Given the description of an element on the screen output the (x, y) to click on. 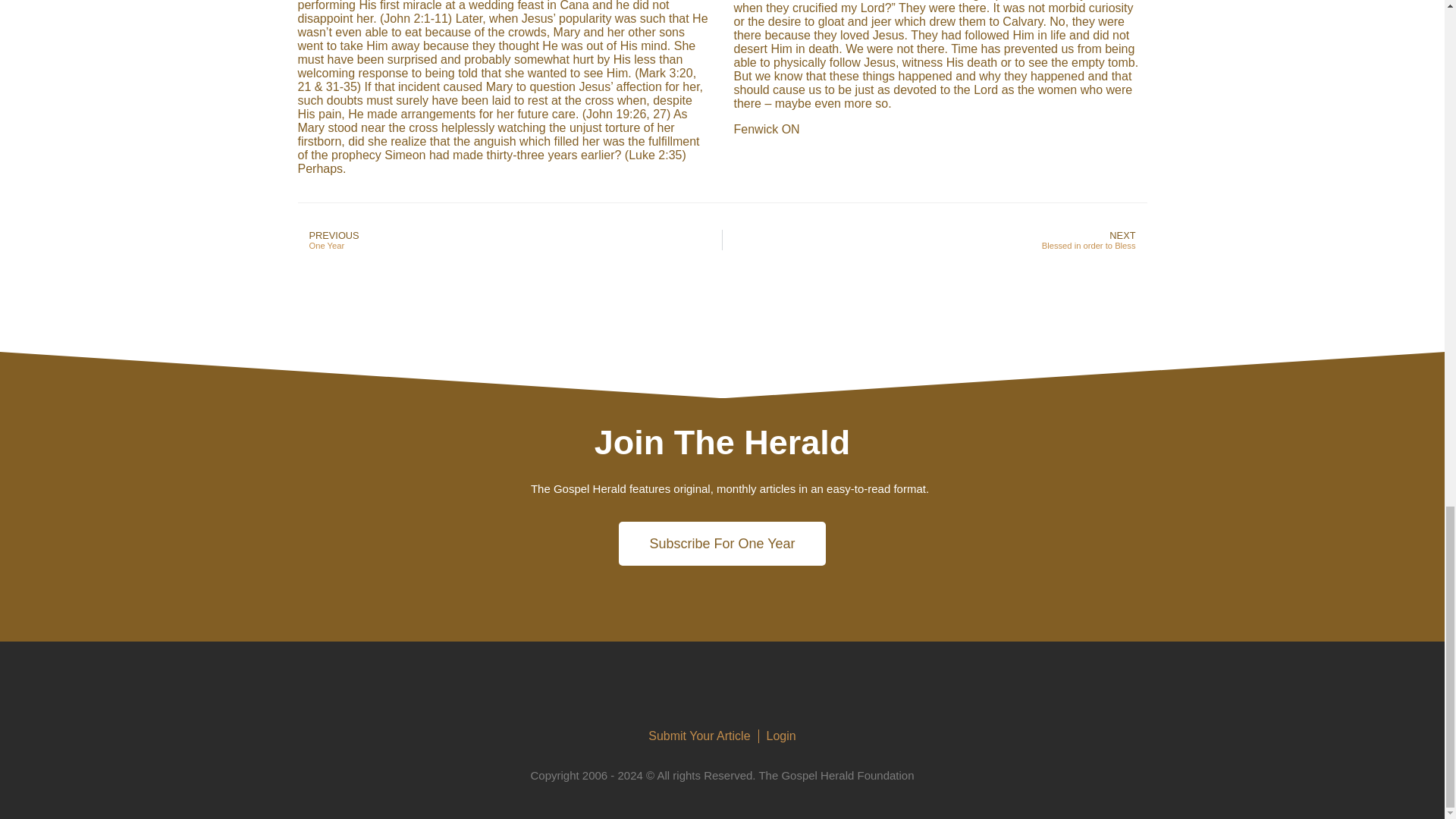
Submit Your Article (698, 735)
Subscribe For One Year (509, 240)
Login (934, 240)
